Given the description of an element on the screen output the (x, y) to click on. 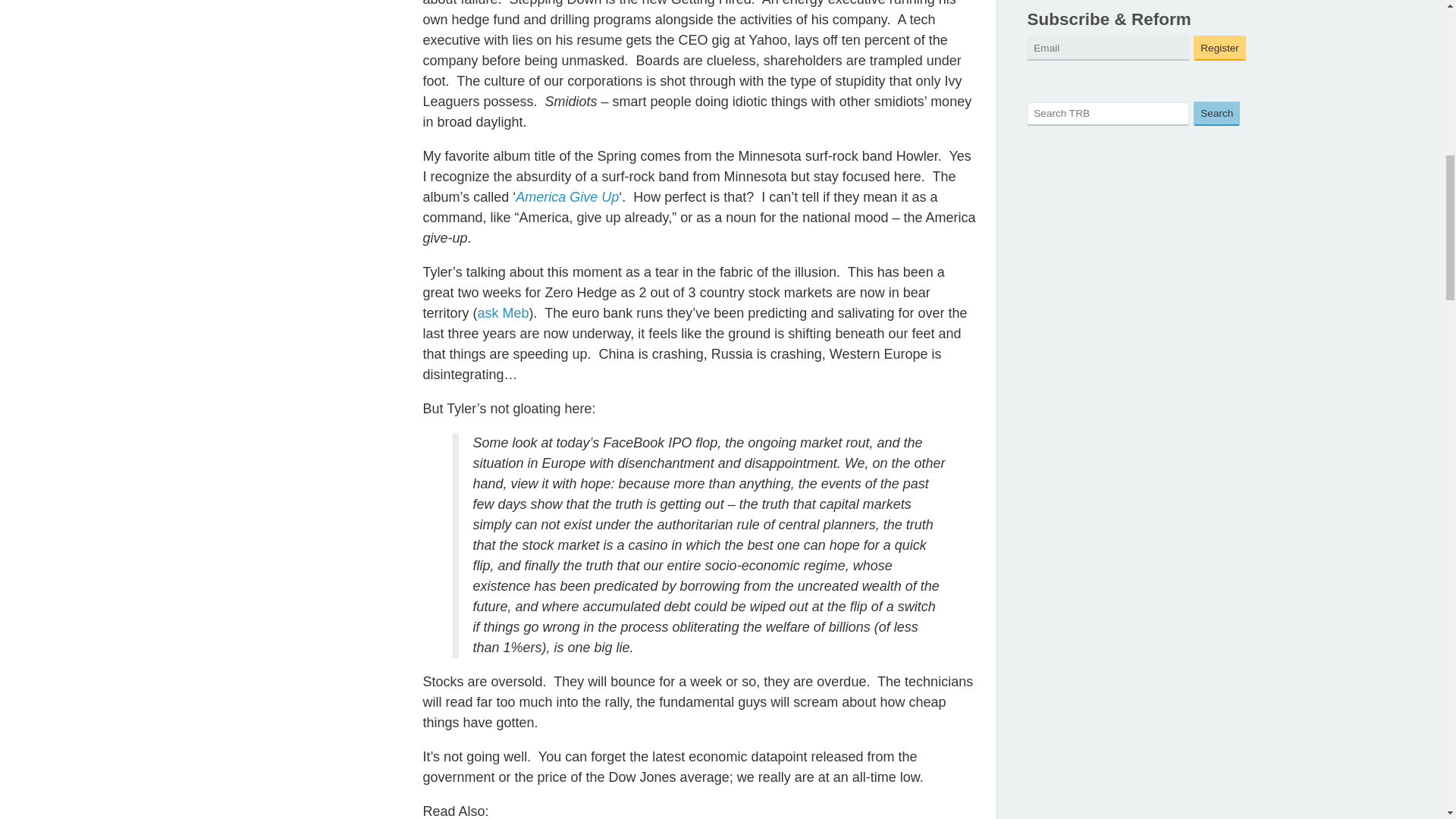
ask Meb (502, 313)
America Give Up (566, 196)
Search (1216, 113)
Register (1218, 48)
